Given the description of an element on the screen output the (x, y) to click on. 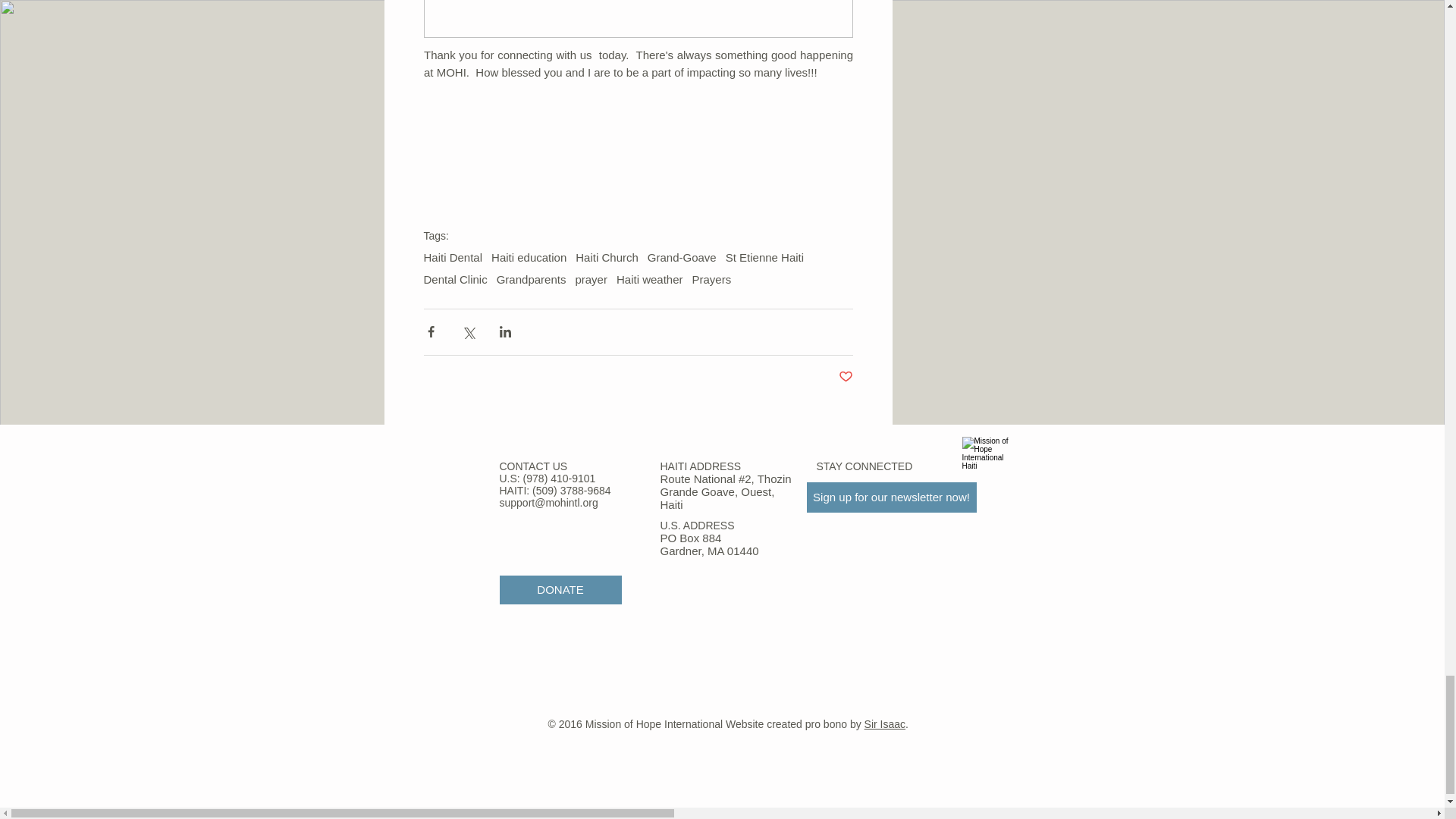
Haiti education (529, 256)
Haiti Church (607, 256)
Haiti Dental (452, 256)
Post not marked as liked (845, 376)
St Etienne Haiti (764, 256)
Dental Clinic (454, 278)
Prayers (712, 278)
prayer (591, 278)
Grandparents (531, 278)
Grand-Goave (681, 256)
Haiti weather (648, 278)
